Given the description of an element on the screen output the (x, y) to click on. 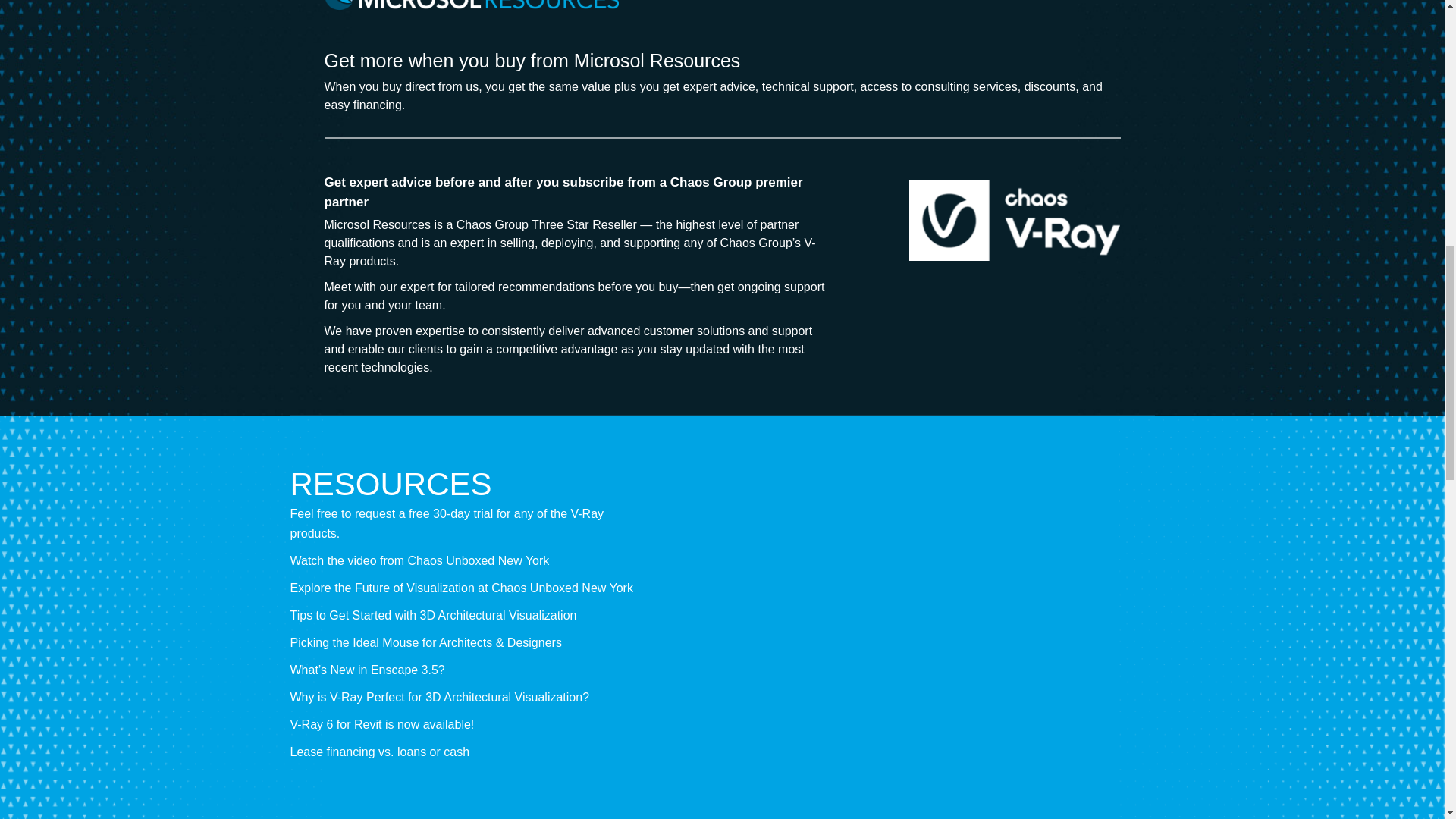
Microsol Resources (471, 4)
V Ray Architecture Reel (906, 599)
